Given the description of an element on the screen output the (x, y) to click on. 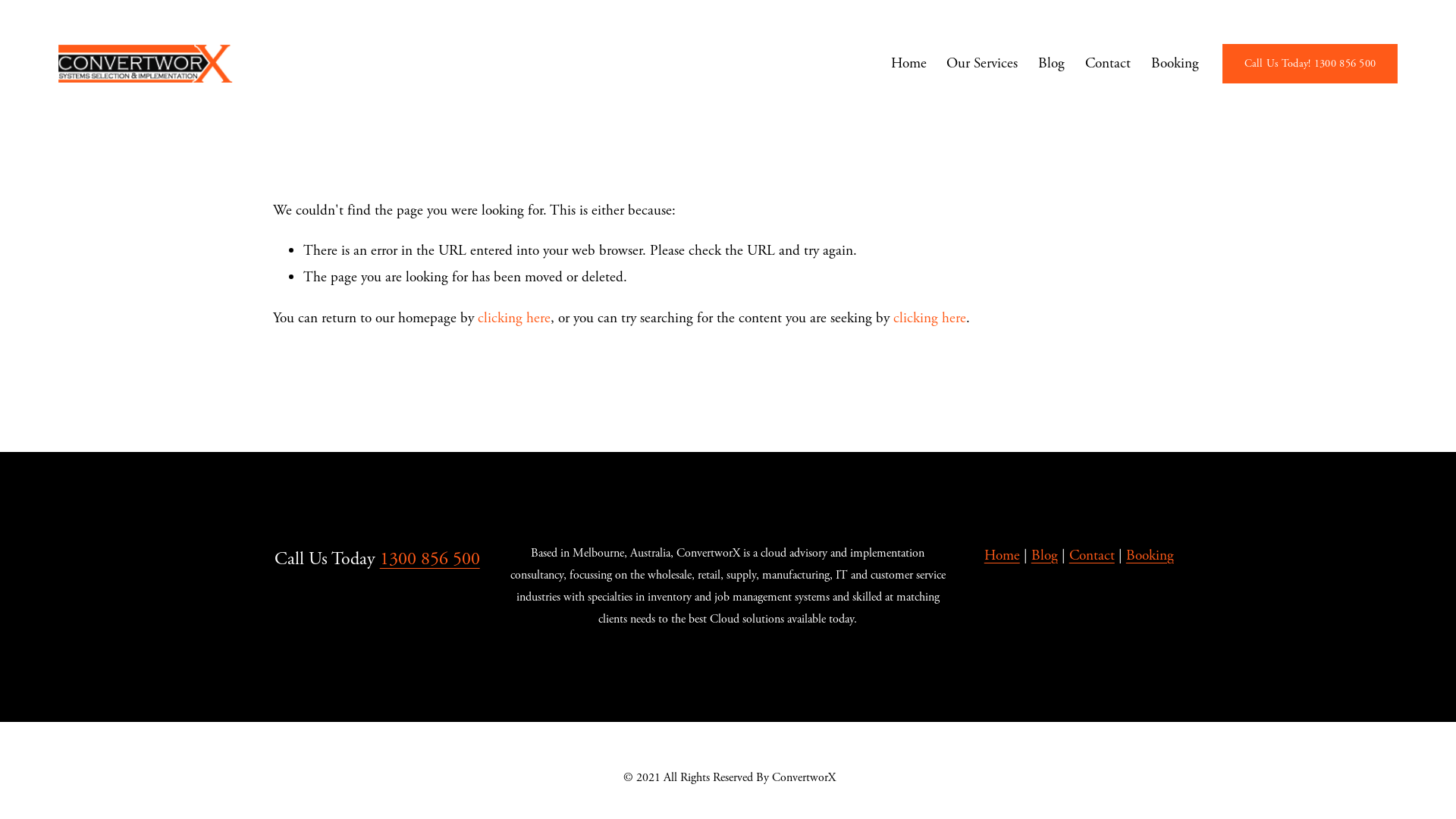
Call Us Today! 1300 856 500 Element type: text (1309, 63)
Contact Element type: text (1091, 555)
Booking Element type: text (1174, 63)
Blog Element type: text (1051, 63)
Booking Element type: text (1149, 555)
Home Element type: text (1001, 555)
1300 856 500 Element type: text (429, 558)
Our Services Element type: text (981, 63)
Contact Element type: text (1107, 63)
Home Element type: text (908, 63)
Blog Element type: text (1044, 555)
clicking here Element type: text (513, 317)
clicking here Element type: text (929, 317)
